Given the description of an element on the screen output the (x, y) to click on. 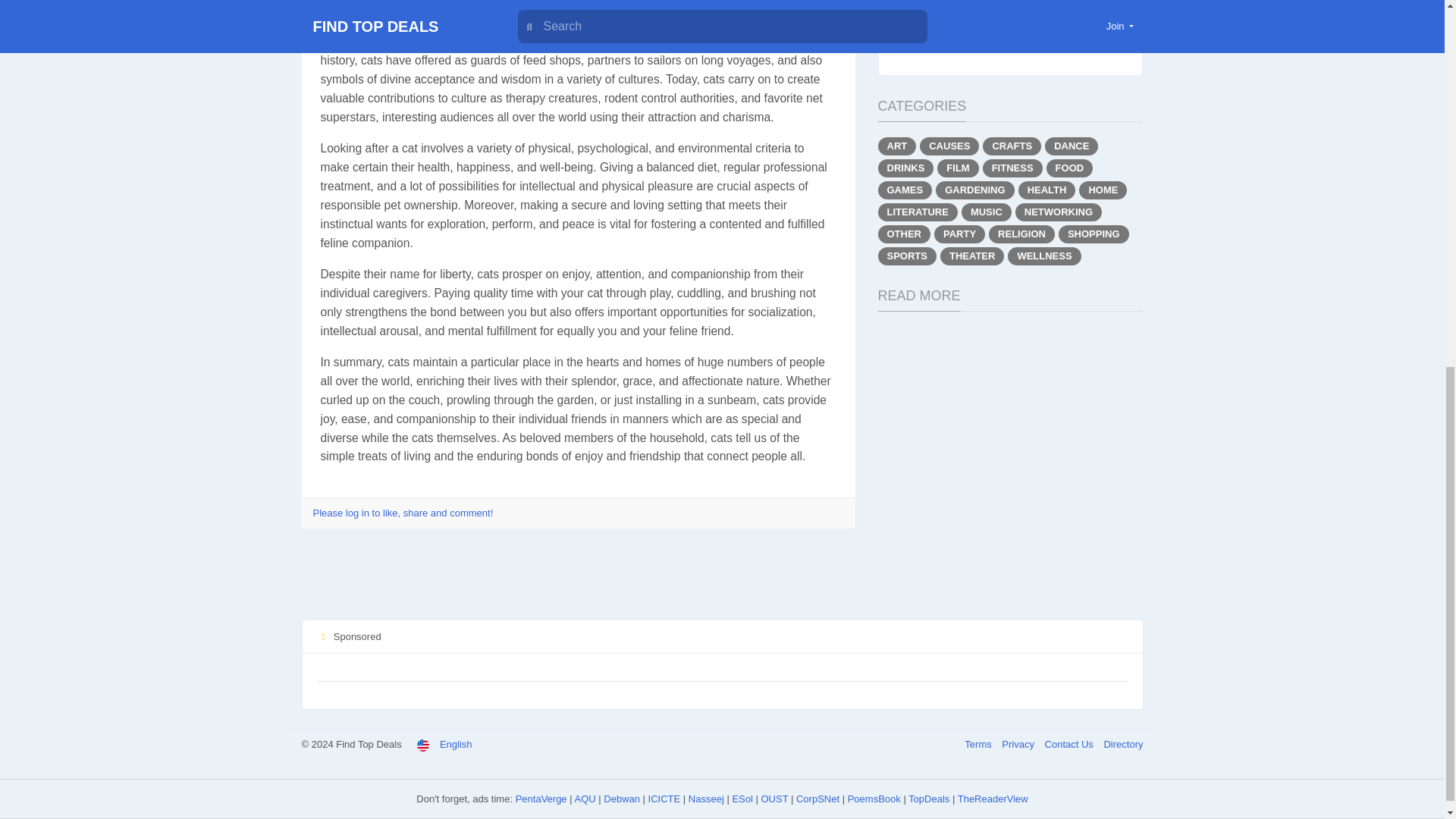
ART (897, 146)
CRAFTS (1011, 146)
Please log in to like, share and comment! (403, 512)
CAUSES (949, 146)
FOOD (1069, 167)
FILM (957, 167)
Advertisement (1009, 17)
DANCE (1071, 146)
Advertisement (721, 581)
FITNESS (1012, 167)
